Given the description of an element on the screen output the (x, y) to click on. 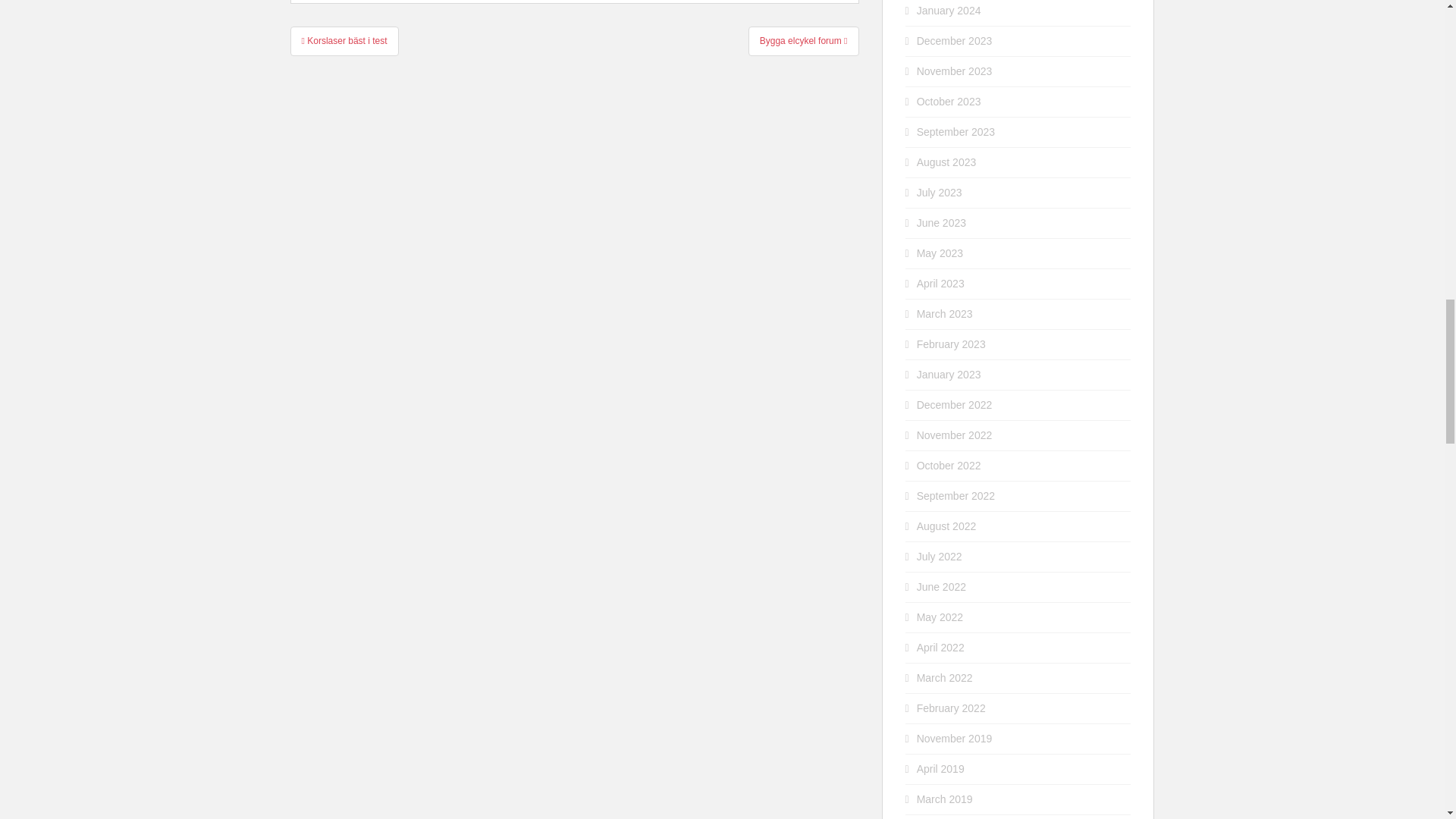
November 2023 (954, 70)
July 2023 (939, 192)
October 2023 (949, 101)
January 2024 (949, 10)
September 2023 (956, 132)
June 2023 (941, 223)
February 2023 (951, 344)
Bygga elcykel forum (803, 40)
April 2023 (940, 283)
August 2023 (946, 162)
March 2023 (944, 313)
December 2023 (954, 40)
January 2023 (949, 374)
May 2023 (939, 253)
